Given the description of an element on the screen output the (x, y) to click on. 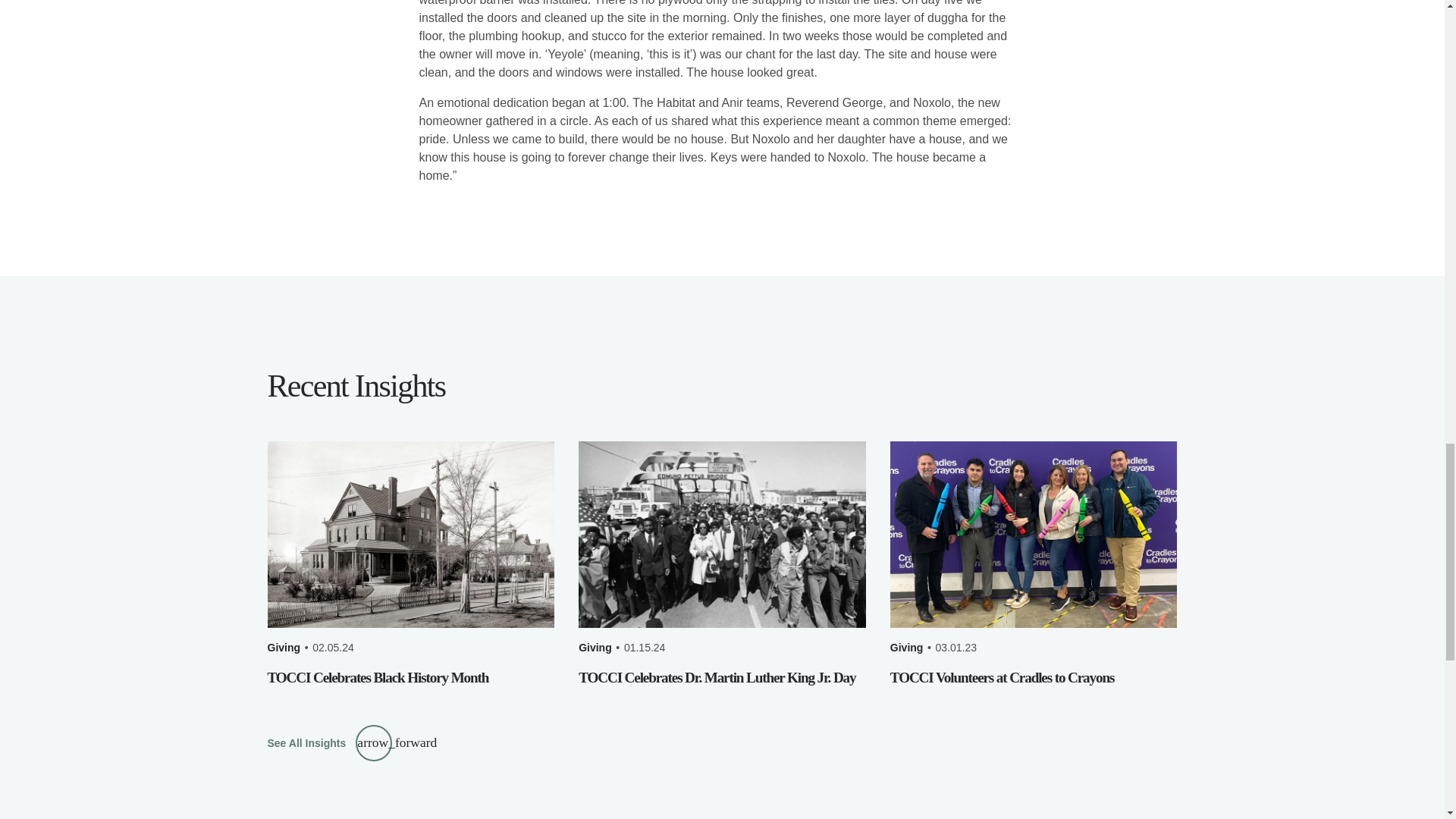
Giving (906, 647)
TOCCI Volunteers at Cradles to Crayons (1001, 677)
TOCCI Celebrates Dr. Martin Luther King Jr. Day (717, 677)
See All Insights (328, 743)
Giving (594, 647)
TOCCI Celebrates Black History Month (376, 677)
Giving (282, 647)
